Given the description of an element on the screen output the (x, y) to click on. 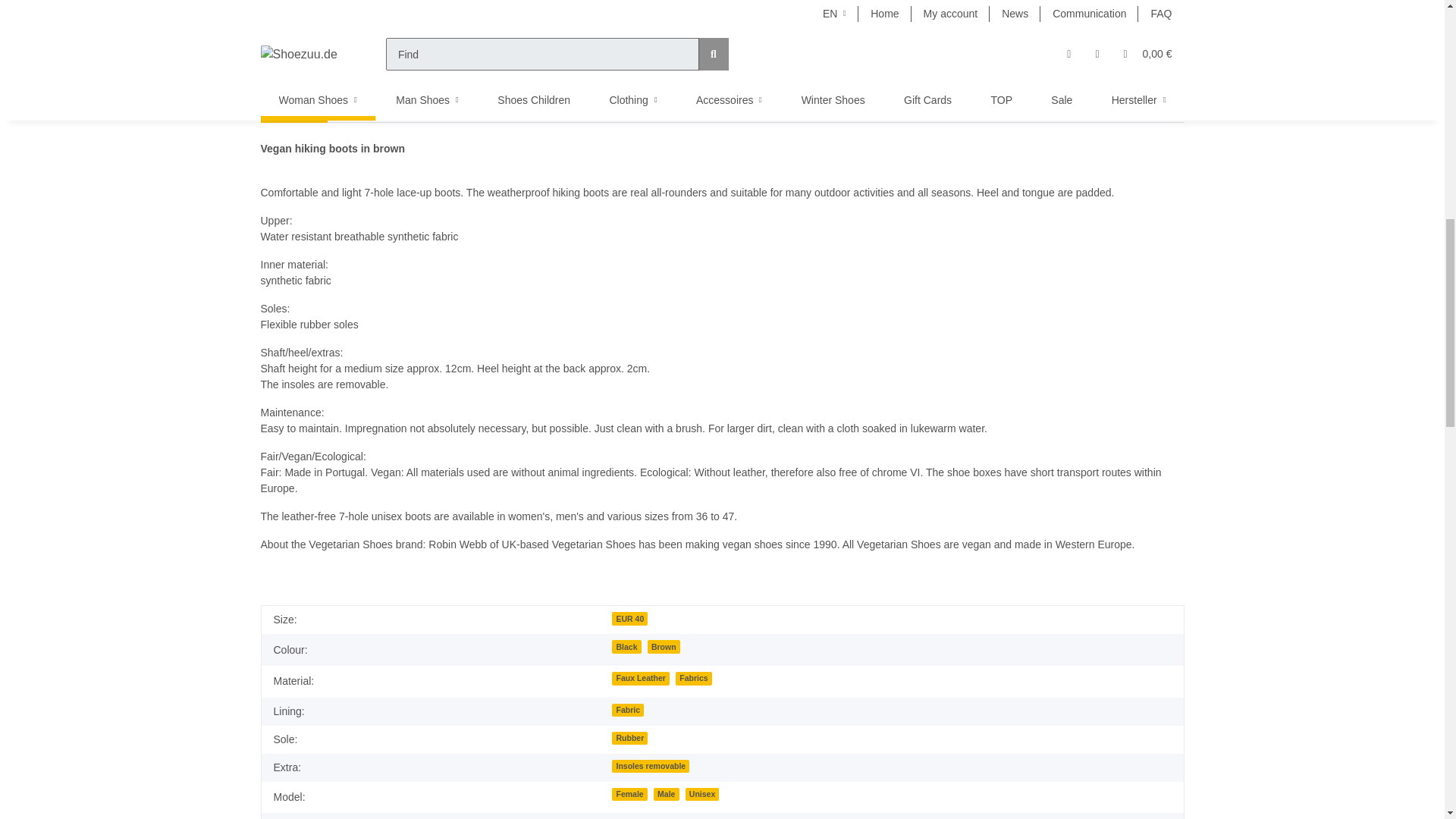
1 (819, 27)
